Given the description of an element on the screen output the (x, y) to click on. 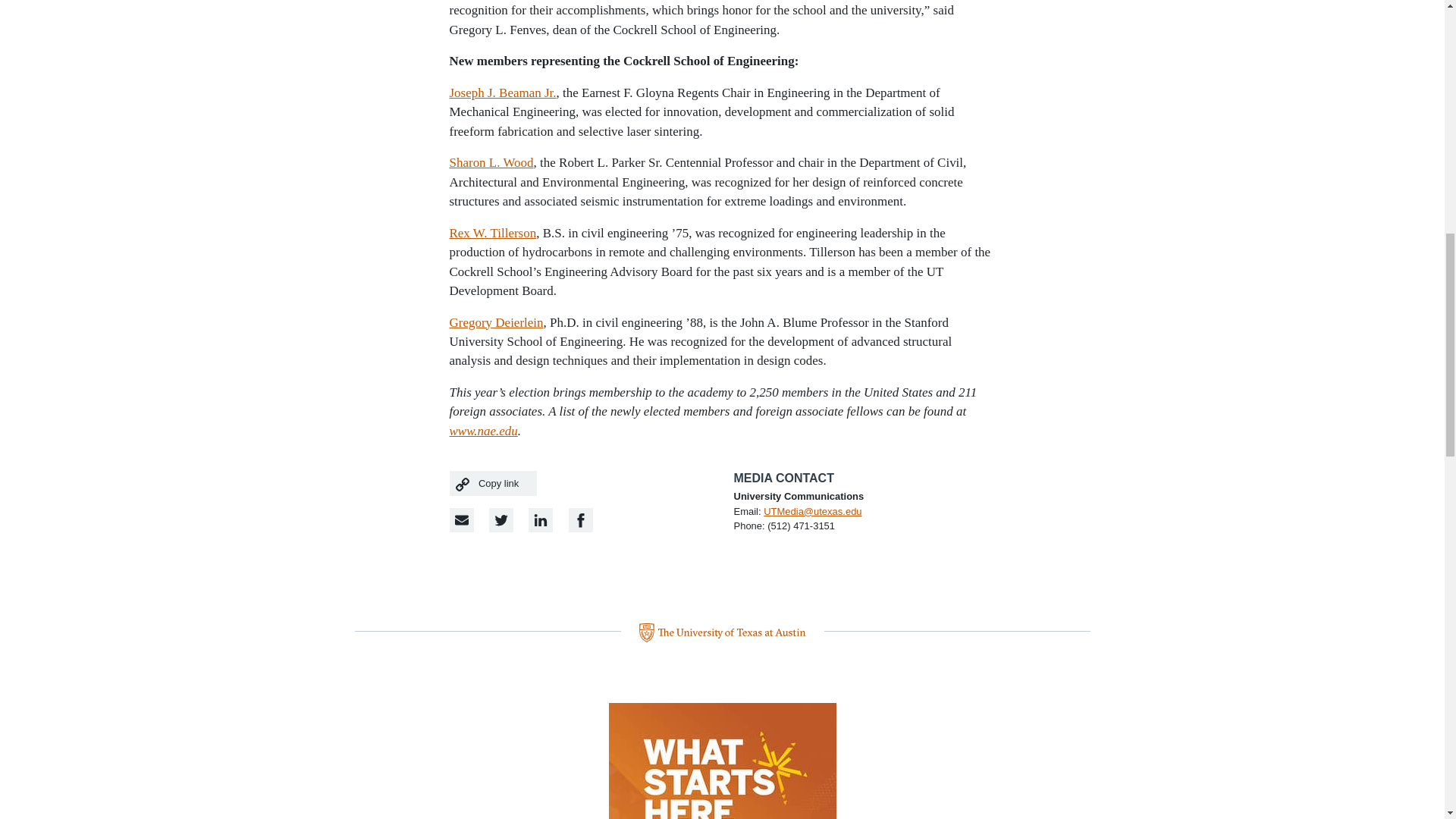
Rex W. Tillerson (491, 233)
Gregory Deierlein (495, 322)
Sharon L. Wood (490, 162)
Joseph J. Beaman Jr. (502, 92)
www.nae.edu (482, 431)
